Given the description of an element on the screen output the (x, y) to click on. 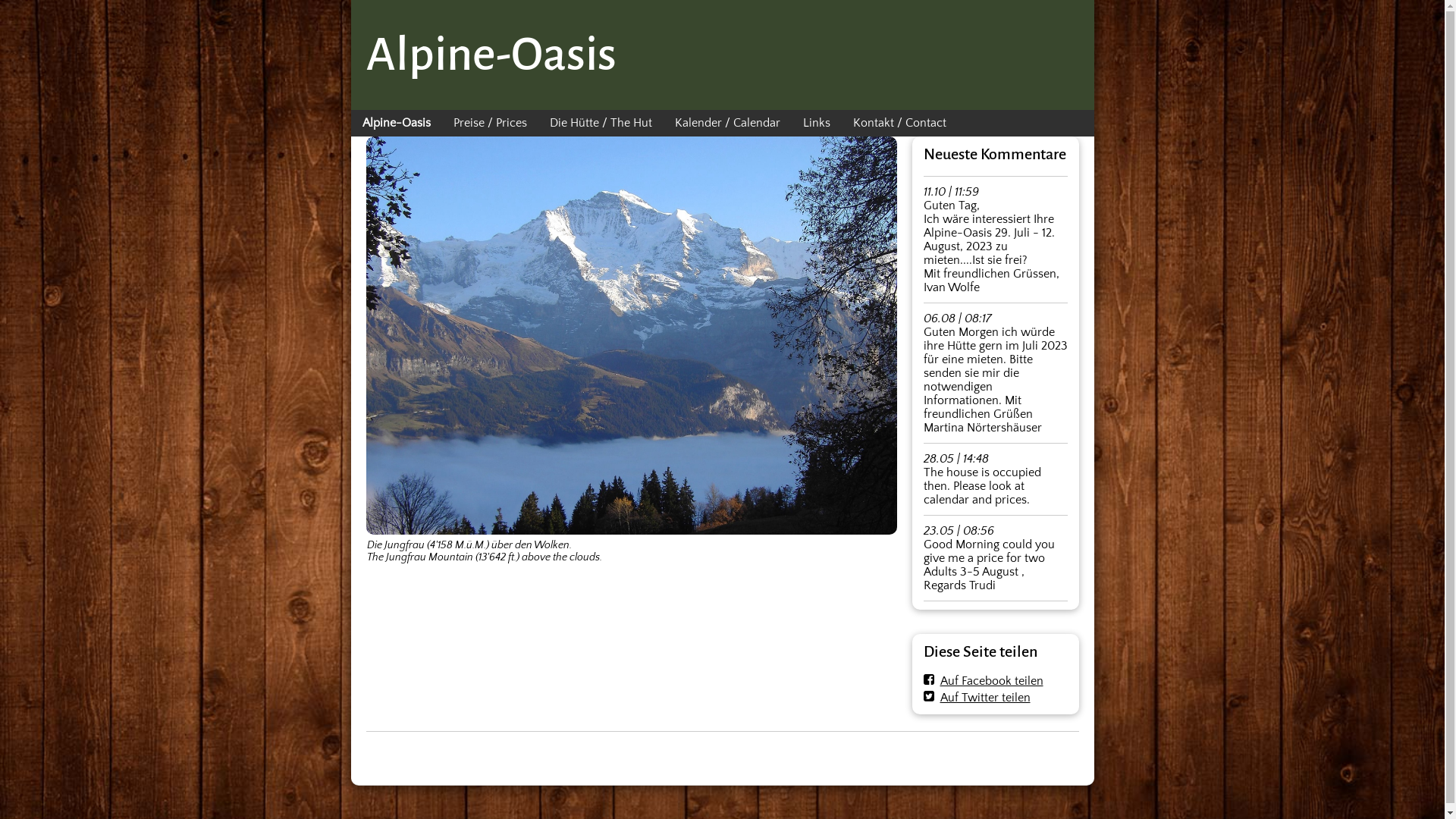
Links Element type: text (816, 122)
Alpine-Oasis Element type: text (395, 122)
Alpine-Oasis Element type: text (490, 54)
Auf Twitter teilen Element type: text (976, 697)
Kontakt / Contact Element type: text (899, 122)
Preise / Prices Element type: text (489, 122)
Auf Facebook teilen Element type: text (983, 680)
Kalender / Calendar Element type: text (726, 122)
